Given the description of an element on the screen output the (x, y) to click on. 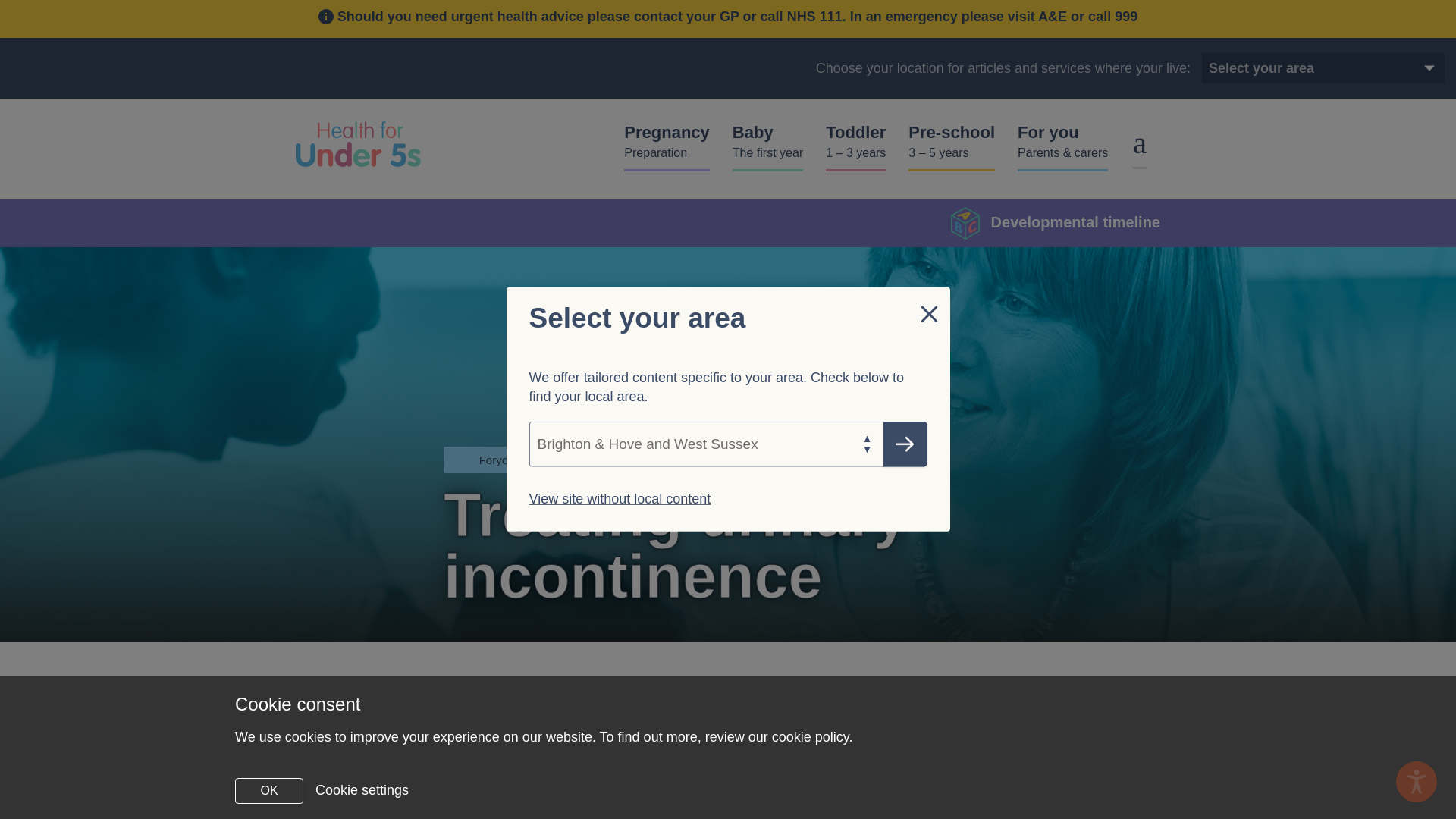
Submit local area (1376, 67)
Foryou (667, 146)
Developmental timeline (497, 459)
Open search (1055, 223)
Submit local area (1139, 142)
Health (1376, 67)
View site without local content (610, 459)
Submit (620, 498)
Listen with the ReachDeck Toolbar (905, 443)
Close (767, 146)
